Given the description of an element on the screen output the (x, y) to click on. 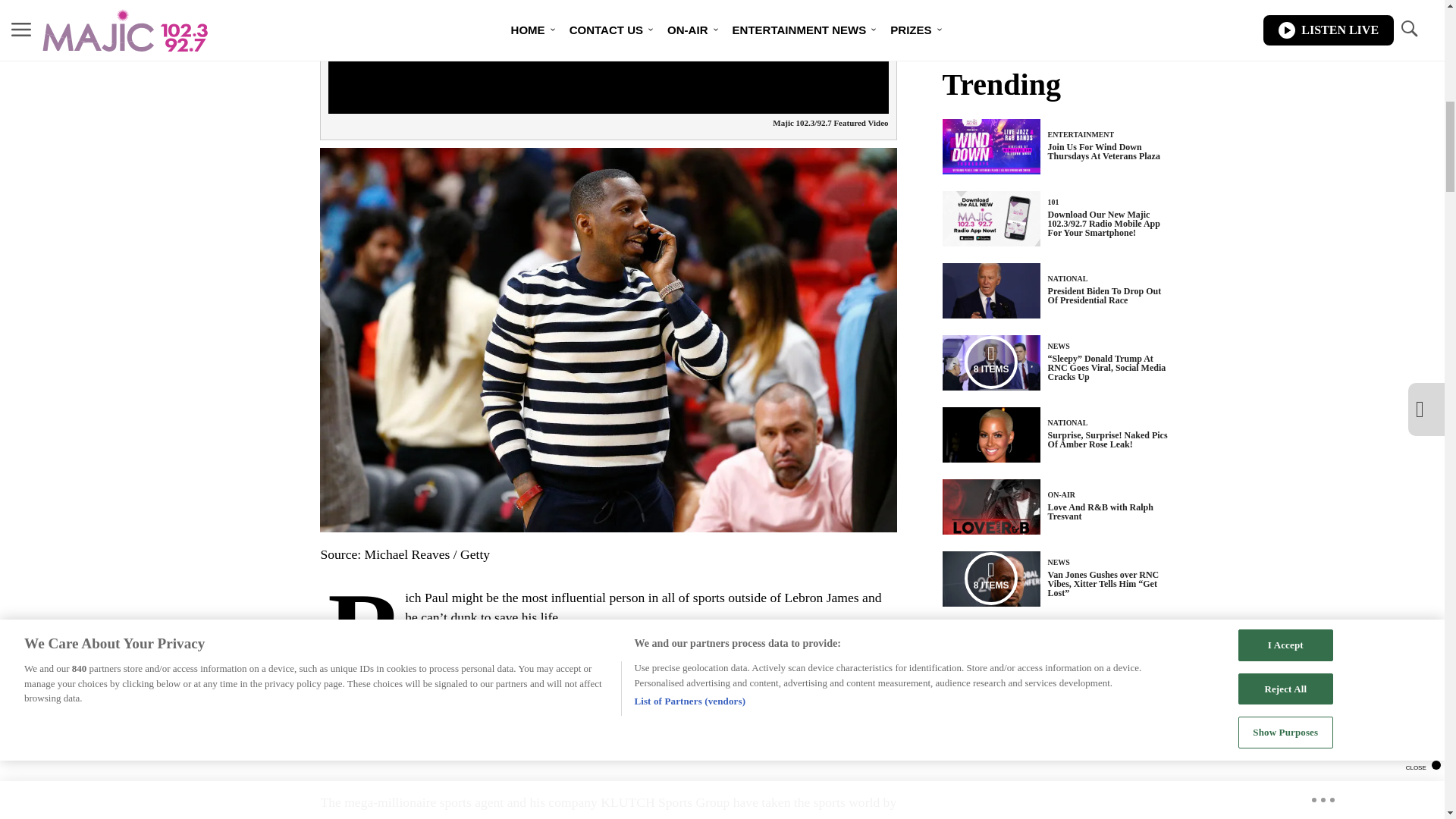
Media Playlist (990, 578)
Media Playlist (990, 362)
